Given the description of an element on the screen output the (x, y) to click on. 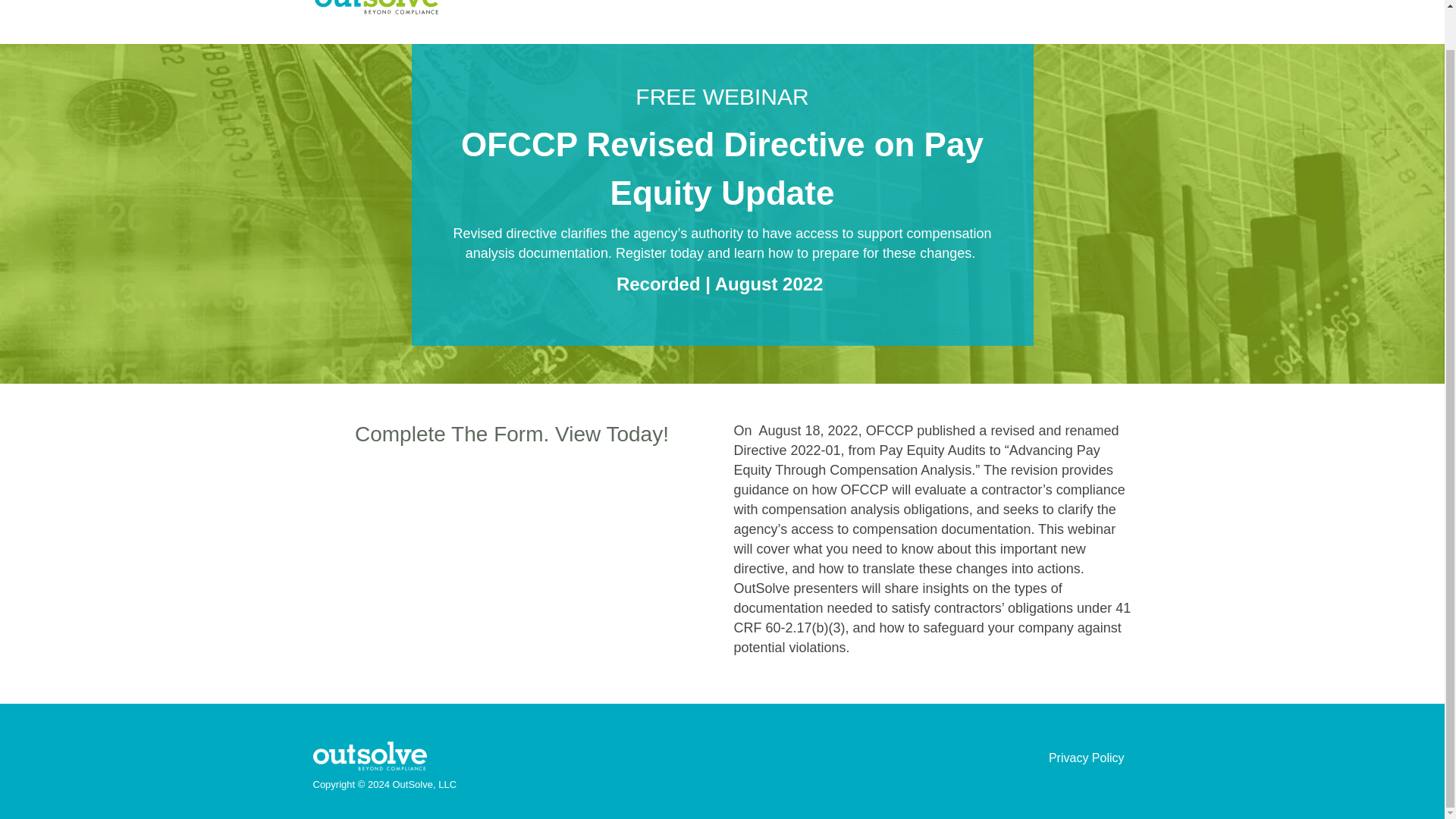
Privacy Policy (1086, 757)
White Only (369, 756)
